Given the description of an element on the screen output the (x, y) to click on. 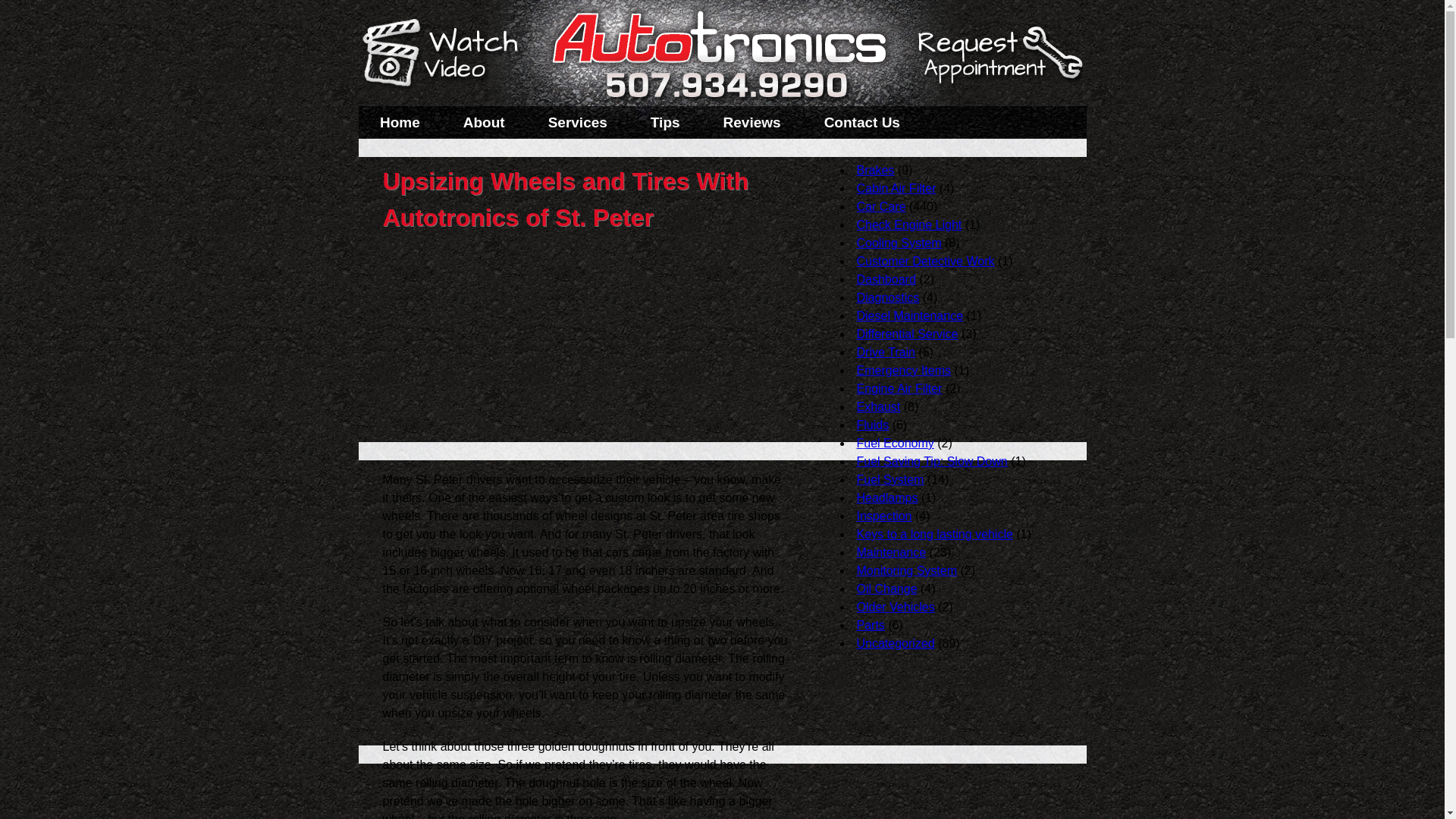
Cooling System (899, 242)
Services (576, 122)
Parts (871, 625)
Schedule a Service (997, 62)
Maintenance (891, 552)
Monitoring System (907, 570)
Customer Detective Work (925, 260)
Cabin Air Filter (896, 187)
Keys to a long lasting vehicle (935, 533)
Fuel Saving Tip: Slow Down (932, 461)
Diesel Maintenance (910, 315)
Inspection (884, 515)
Older Vehicles (895, 606)
Oil Change (887, 588)
Emergency Items (903, 369)
